Given the description of an element on the screen output the (x, y) to click on. 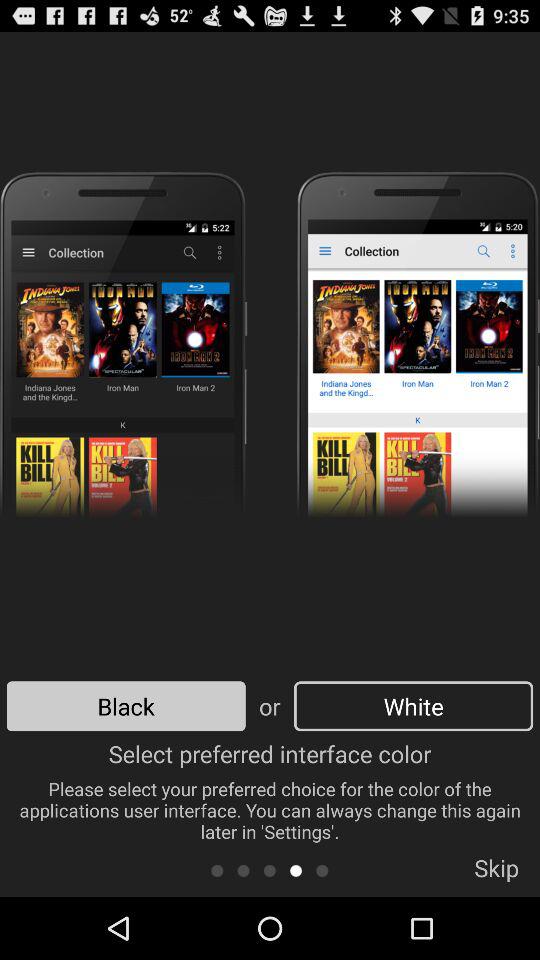
turn on the icon to the left of skip item (321, 870)
